Given the description of an element on the screen output the (x, y) to click on. 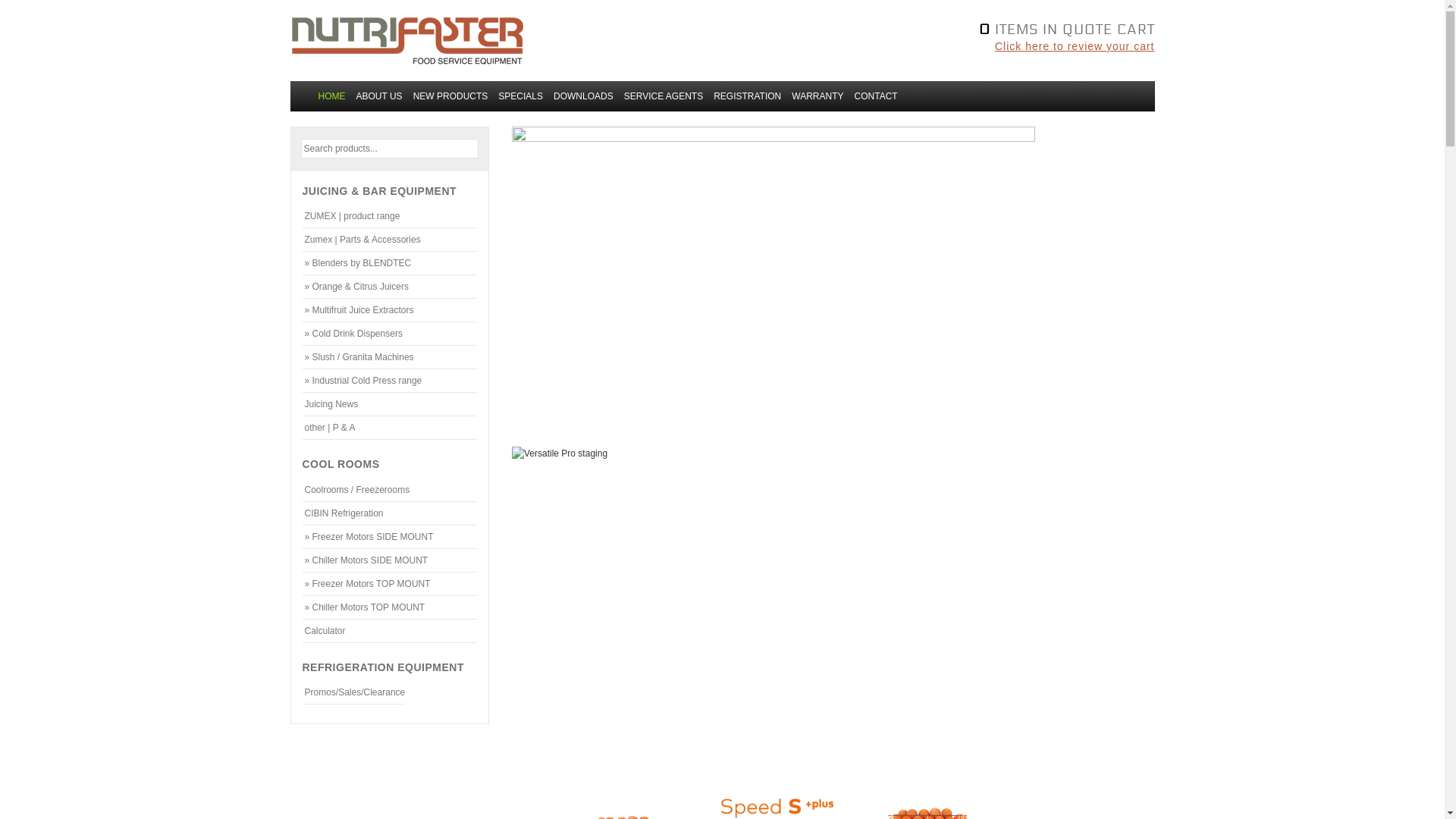
CIBIN Refrigeration Element type: text (388, 513)
SPECIALS Element type: text (520, 96)
other | P & A Element type: text (388, 427)
DOWNLOADS Element type: text (583, 96)
Click here to review your cart Element type: text (944, 46)
HOME Element type: text (331, 96)
0 ITEMS IN QUOTE CART Element type: text (944, 27)
REFRIGERATION EQUIPMENT Element type: text (382, 667)
Promos/Sales/Clearance Element type: text (352, 691)
COOL ROOMS Element type: text (340, 464)
SERVICE AGENTS Element type: text (663, 96)
REGISTRATION Element type: text (747, 96)
Coolrooms / Freezerooms Element type: text (388, 489)
ZUMEX | product range Element type: text (388, 215)
WARRANTY Element type: text (817, 96)
CONTACT Element type: text (876, 96)
ABOUT US Element type: text (378, 96)
Juicing News Element type: text (388, 403)
Zumex | Parts & Accessories Element type: text (388, 239)
Calculator Element type: text (388, 630)
NEW PRODUCTS Element type: text (450, 96)
JUICING & BAR EQUIPMENT Element type: text (378, 191)
